Given the description of an element on the screen output the (x, y) to click on. 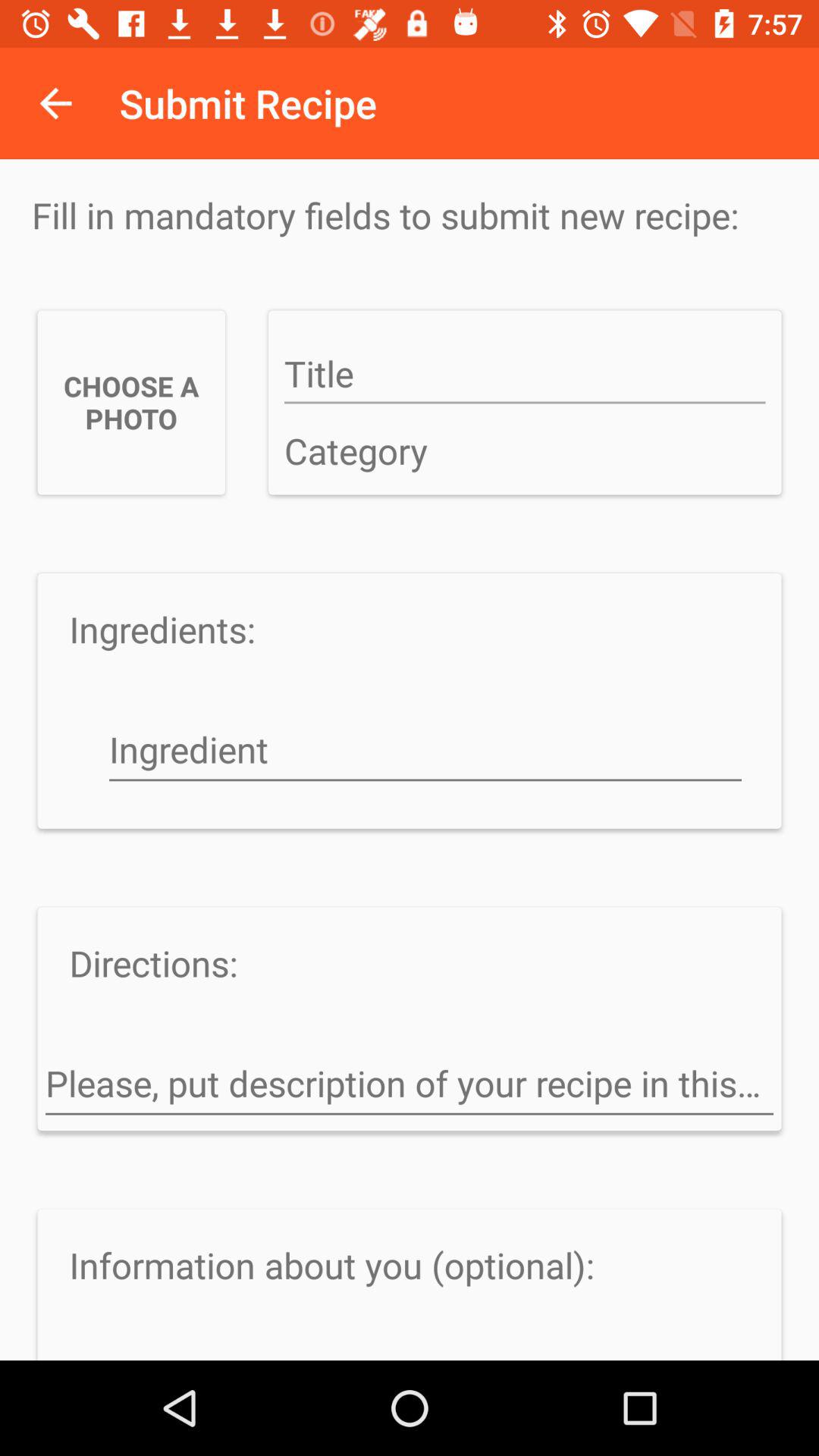
recipe category (524, 451)
